Given the description of an element on the screen output the (x, y) to click on. 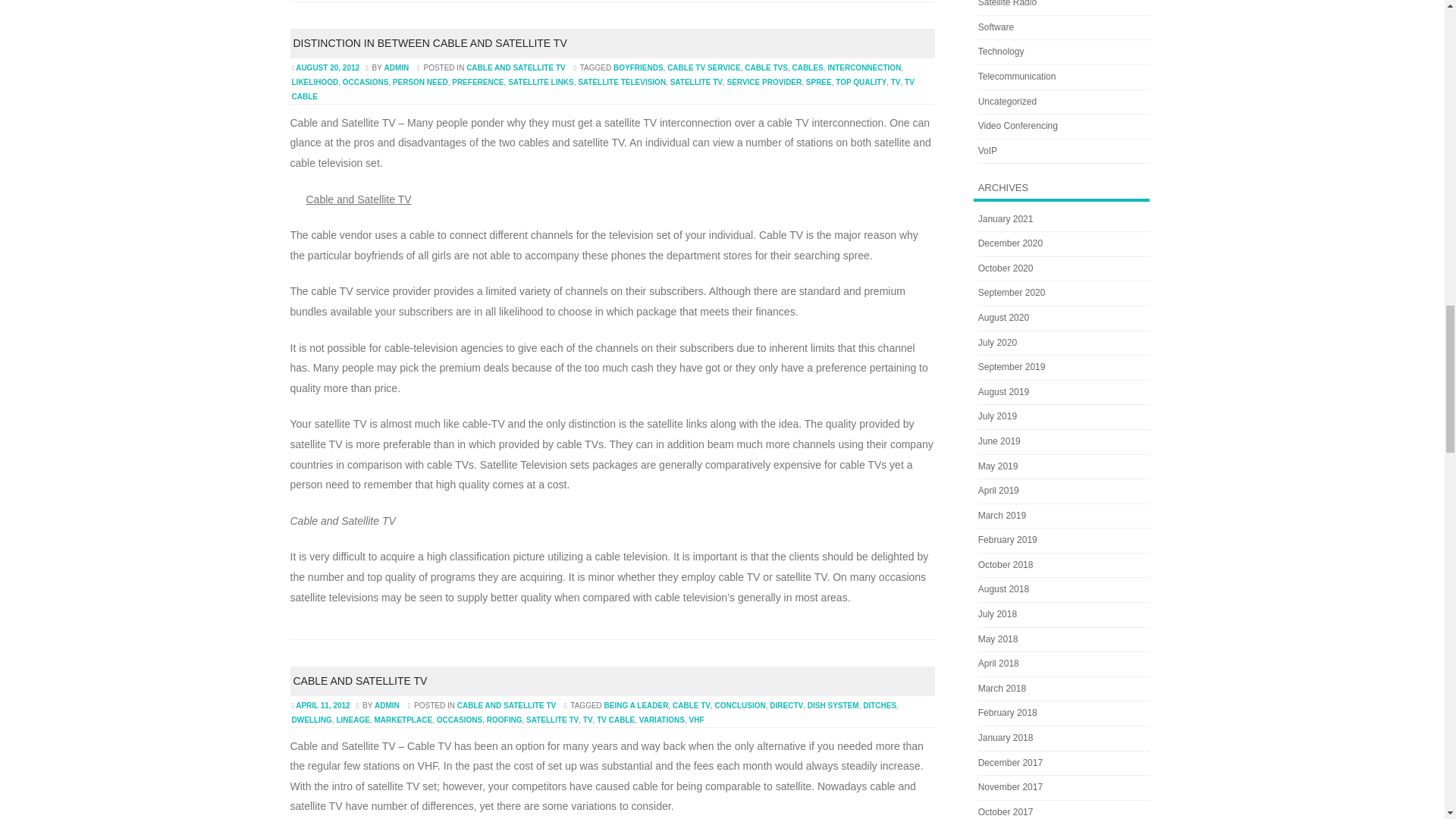
View all posts by admin (396, 67)
AUGUST 20, 2012 (328, 67)
ADMIN (396, 67)
CABLES (807, 67)
CABLE TV SERVICE (703, 67)
DISTINCTION IN BETWEEN CABLE AND SATELLITE TV (429, 42)
2:23 pm (328, 67)
Permalink to Distinction In between Cable and Satellite TV (429, 42)
BOYFRIENDS (637, 67)
Permalink to Cable and Satellite TV (359, 680)
